Given the description of an element on the screen output the (x, y) to click on. 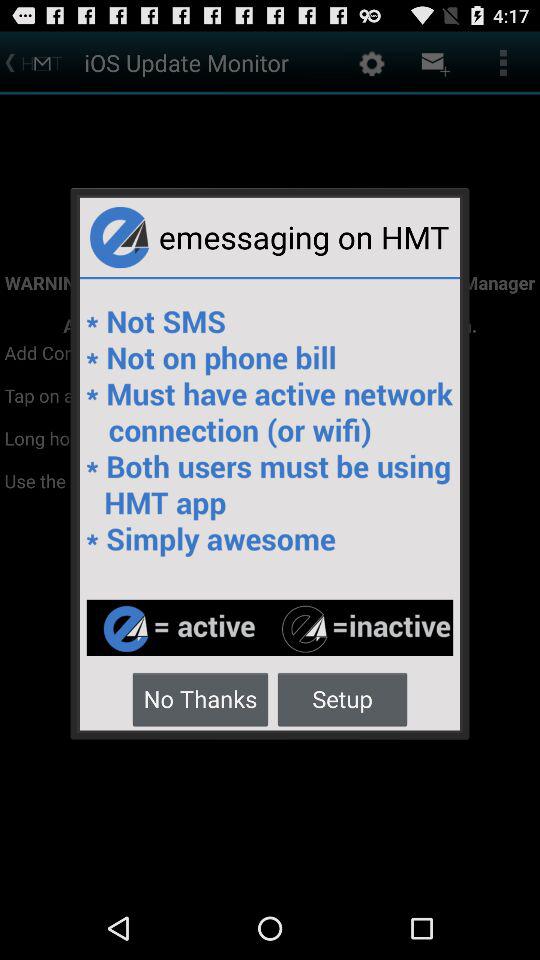
press the setup item (342, 698)
